Given the description of an element on the screen output the (x, y) to click on. 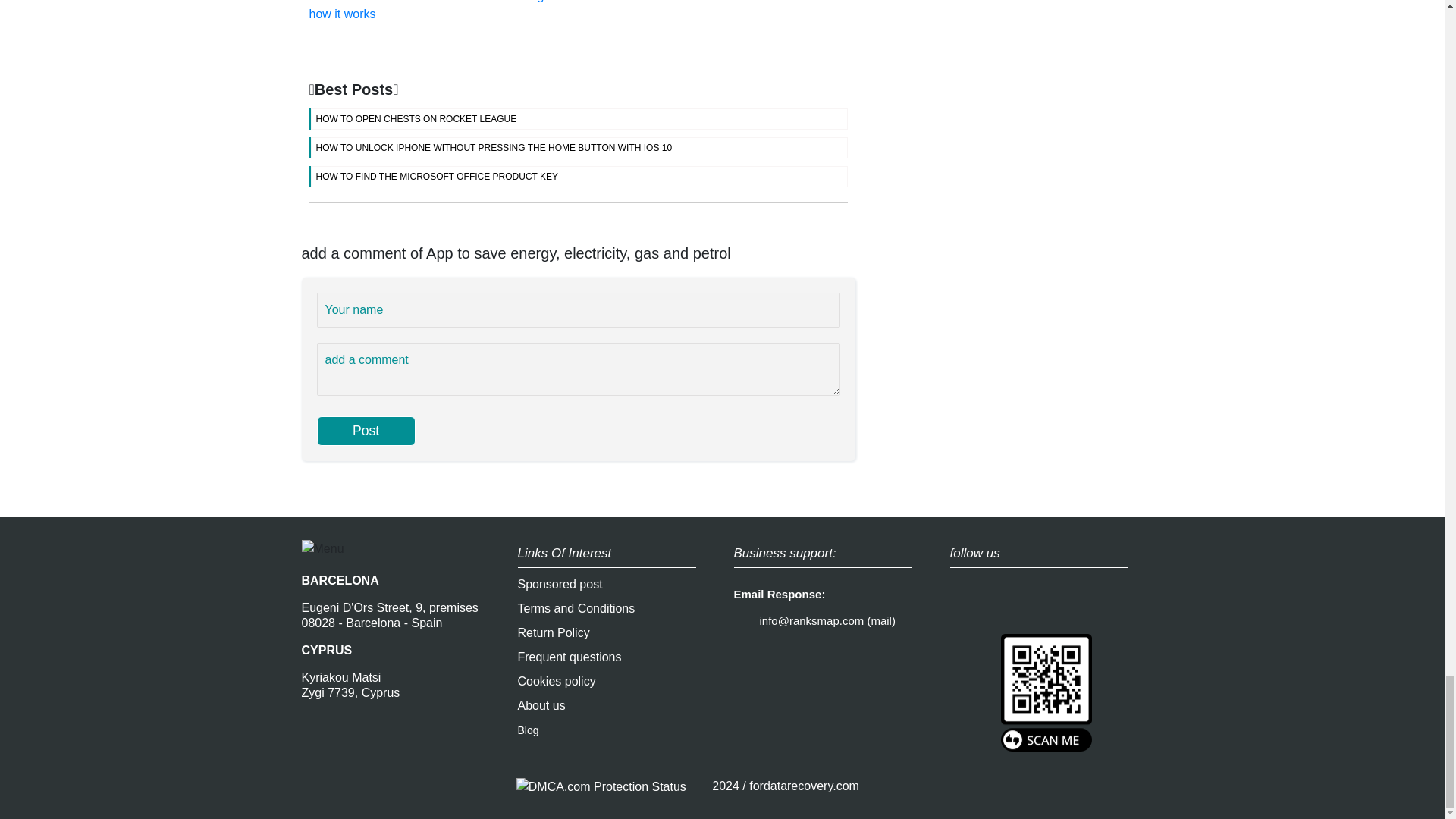
Post (365, 430)
